Given the description of an element on the screen output the (x, y) to click on. 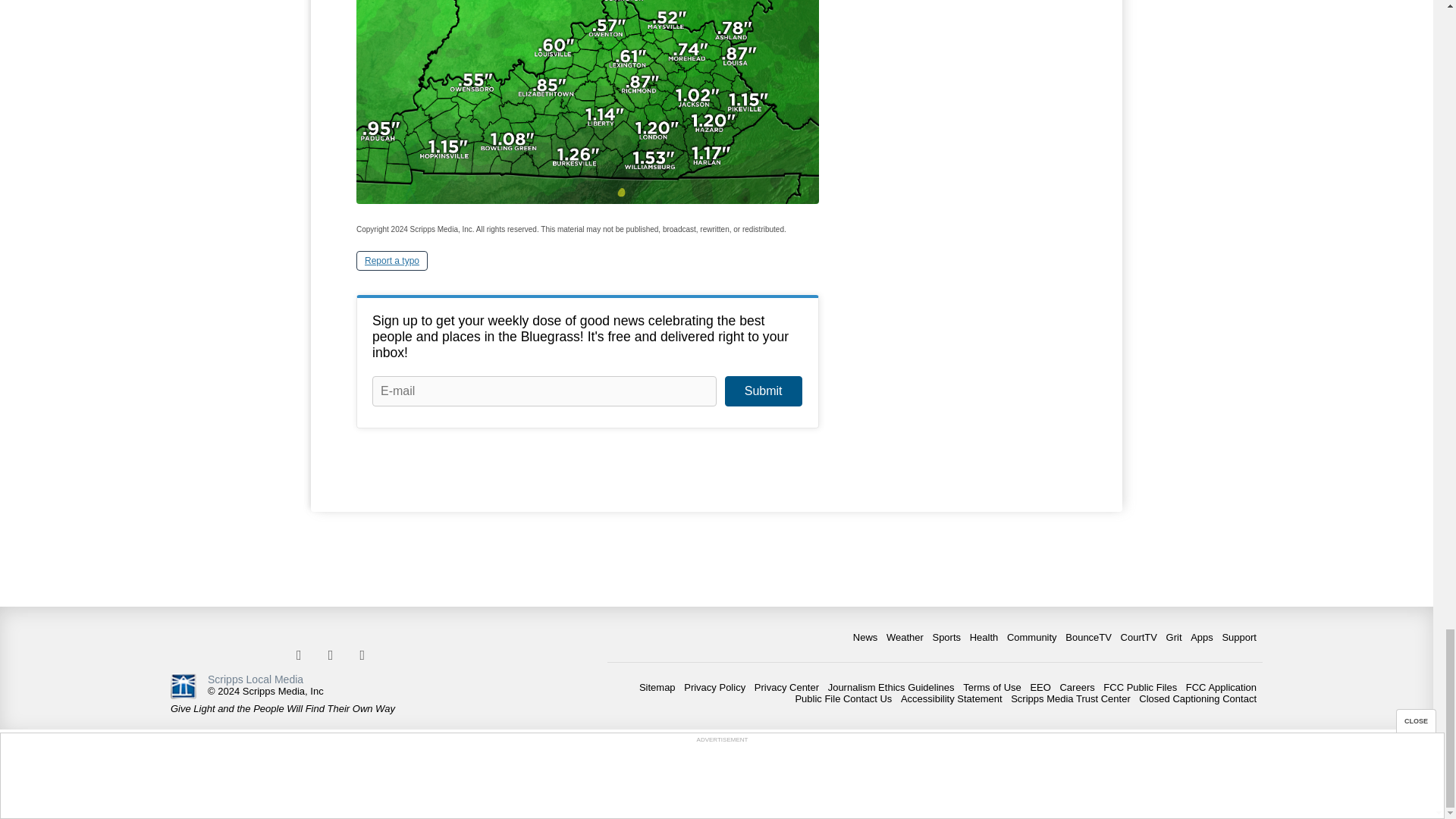
Submit (763, 390)
